Given the description of an element on the screen output the (x, y) to click on. 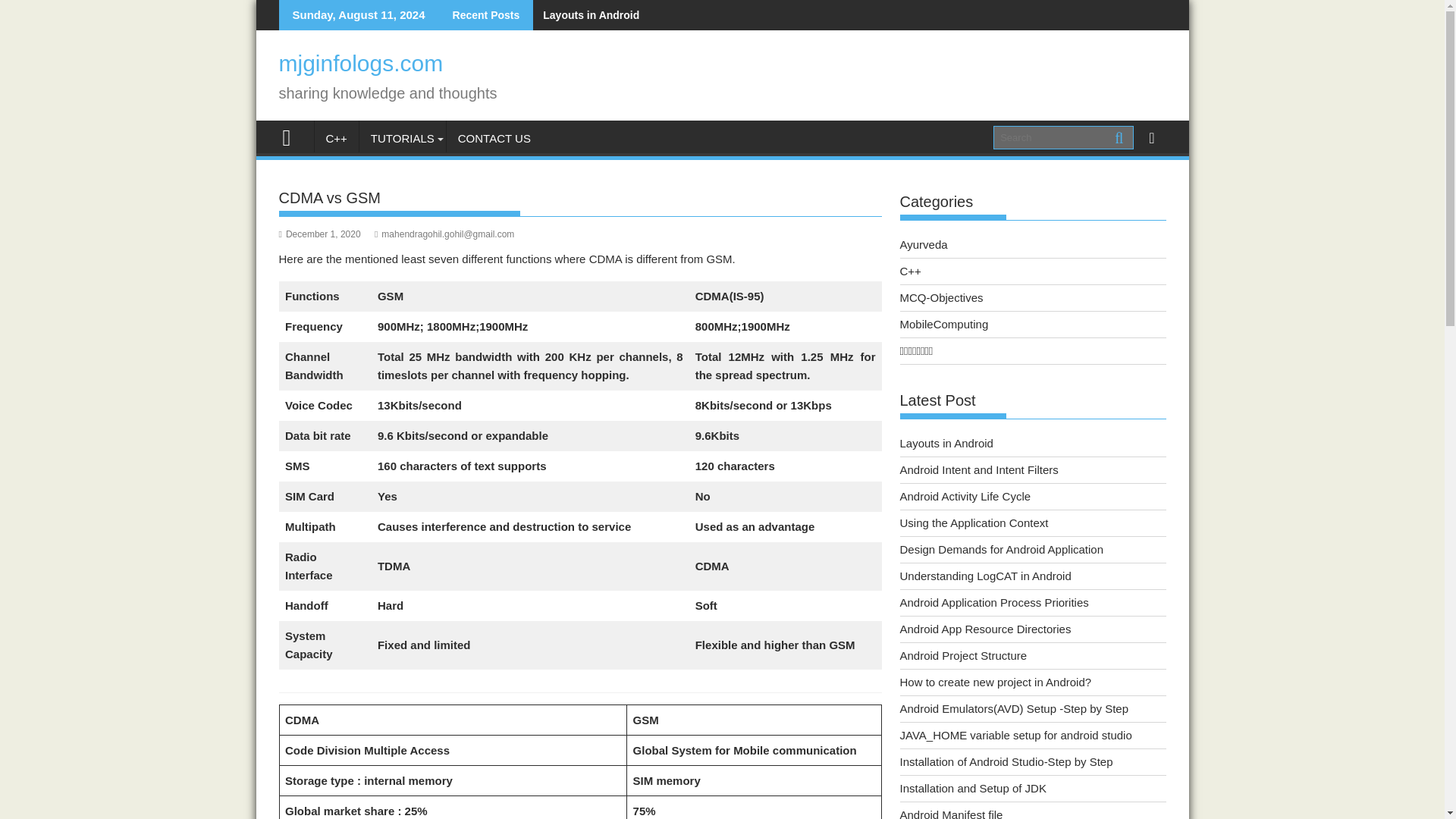
December 1, 2020 (320, 234)
CONTACT US (493, 138)
mjginfologs.com (293, 136)
TUTORIALS (402, 138)
mjginfologs.com (361, 63)
Layouts in Android (585, 15)
Layouts in Android (585, 15)
